Given the description of an element on the screen output the (x, y) to click on. 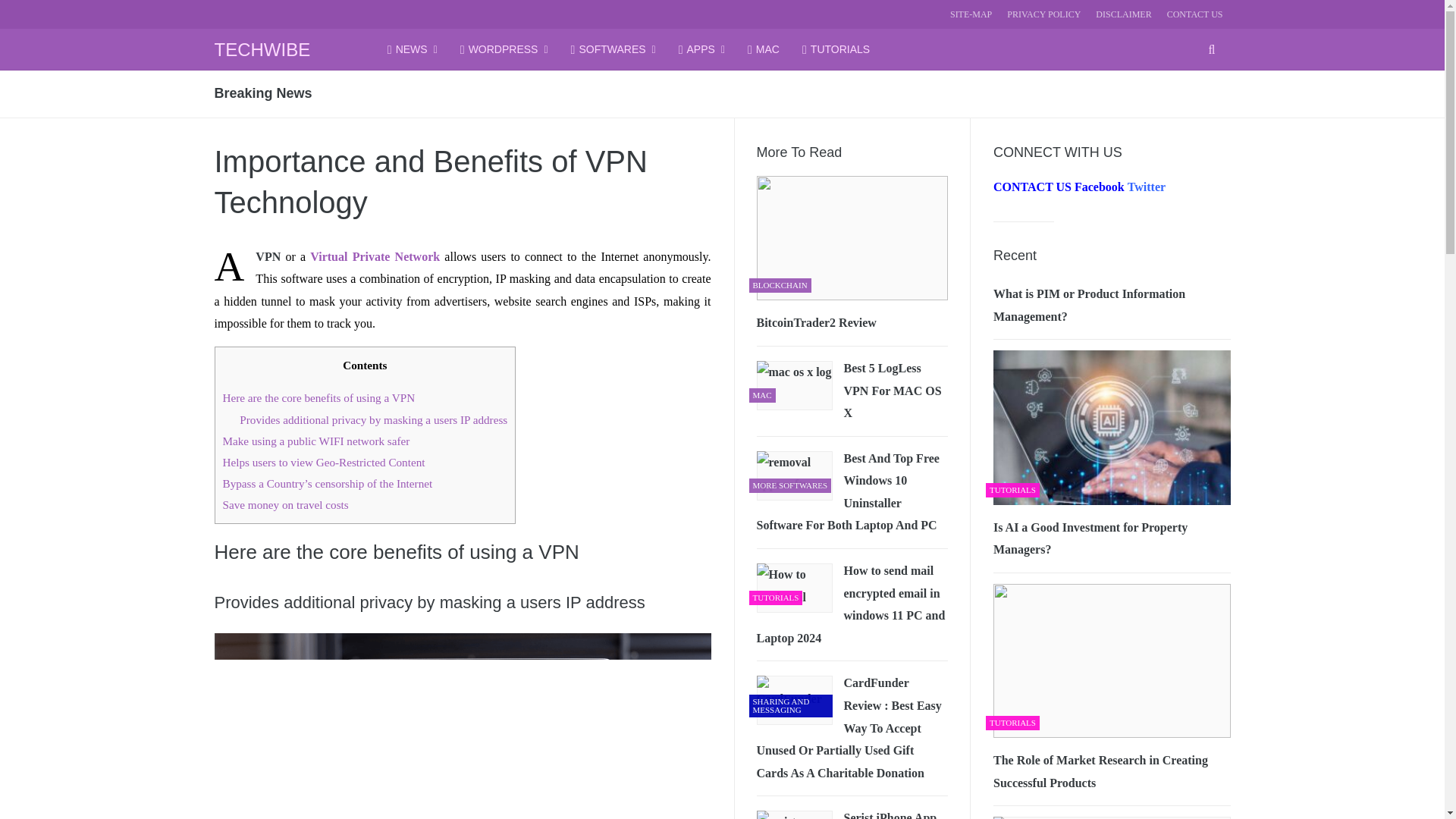
Virtual Private Network (374, 256)
WORDPRESS (504, 49)
TECHWIBE (262, 49)
NEWS (412, 49)
SITE-MAP (970, 14)
SOFTWARES (613, 49)
Here are the core benefits of using a VPN (318, 397)
WORDPRESS (504, 49)
SOFTWARES (613, 49)
DISCLAIMER (1123, 14)
Helps users to view Geo-Restricted Content (323, 461)
APPS (701, 49)
Save money on travel costs (285, 504)
TUTORIALS (835, 49)
APPS (701, 49)
